Given the description of an element on the screen output the (x, y) to click on. 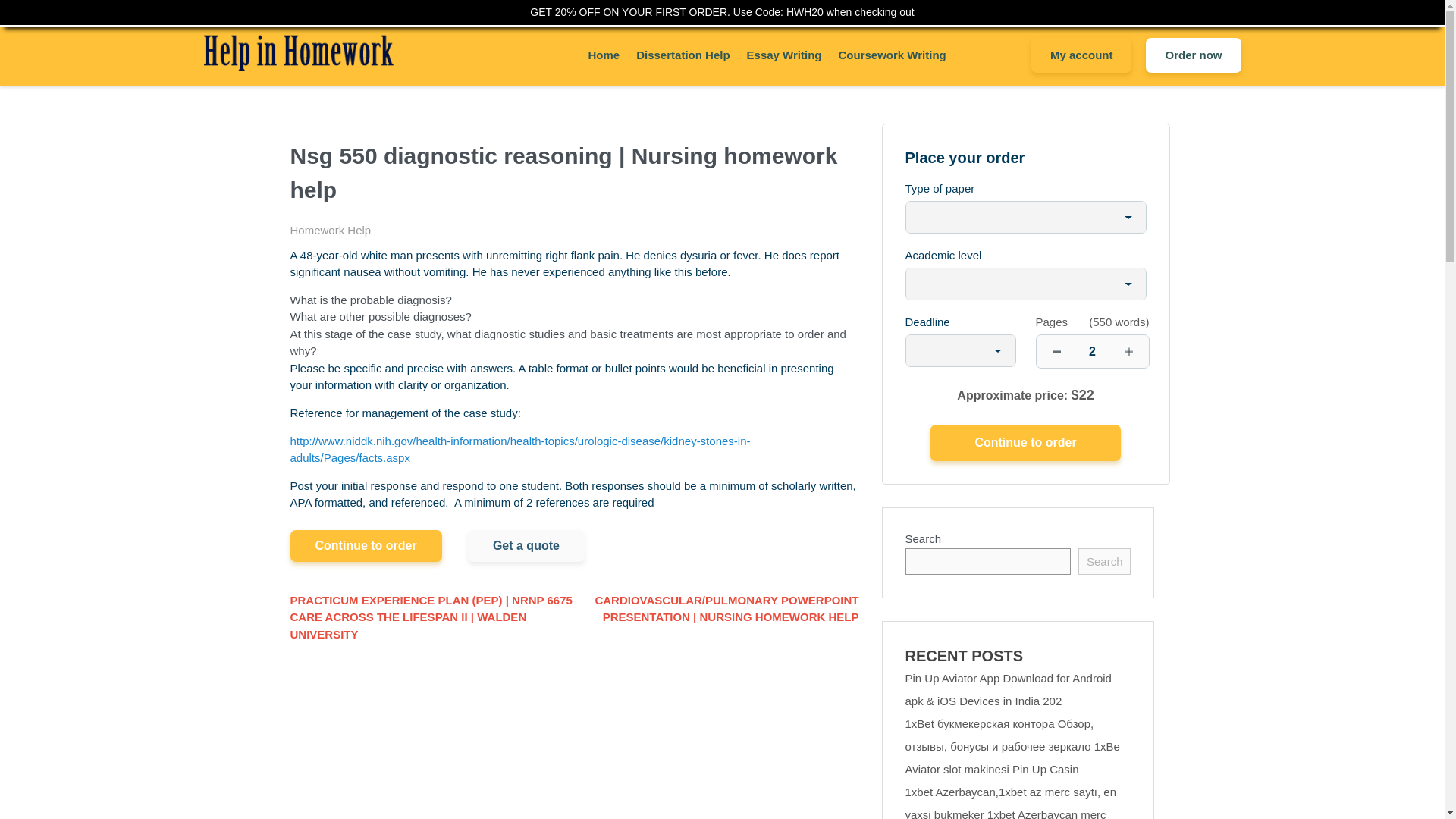
Order now (1192, 54)
Coursework Writing (891, 55)
Home (604, 55)
Search (1104, 560)
Continue to order (1024, 443)
Homework Help (330, 229)
Dissertation Help (682, 55)
2 (1091, 350)
Aviator slot makinesi Pin Up Casin (991, 768)
My account (1081, 54)
Get a quote (526, 545)
Continue to order (365, 545)
Continue to order (1024, 443)
Essay Writing (784, 55)
